Given the description of an element on the screen output the (x, y) to click on. 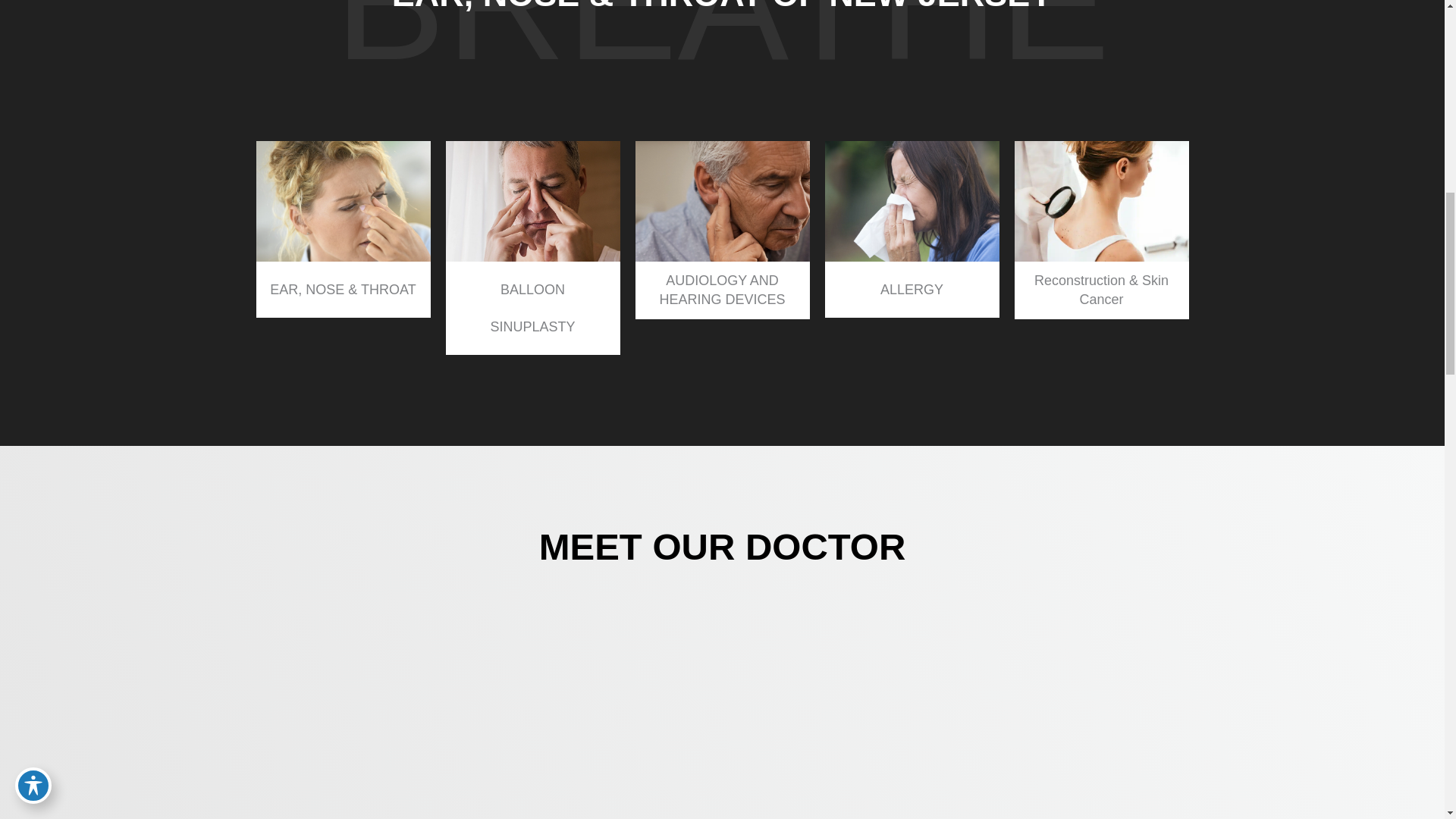
foster 109 46 550x825 1 (721, 786)
